Given the description of an element on the screen output the (x, y) to click on. 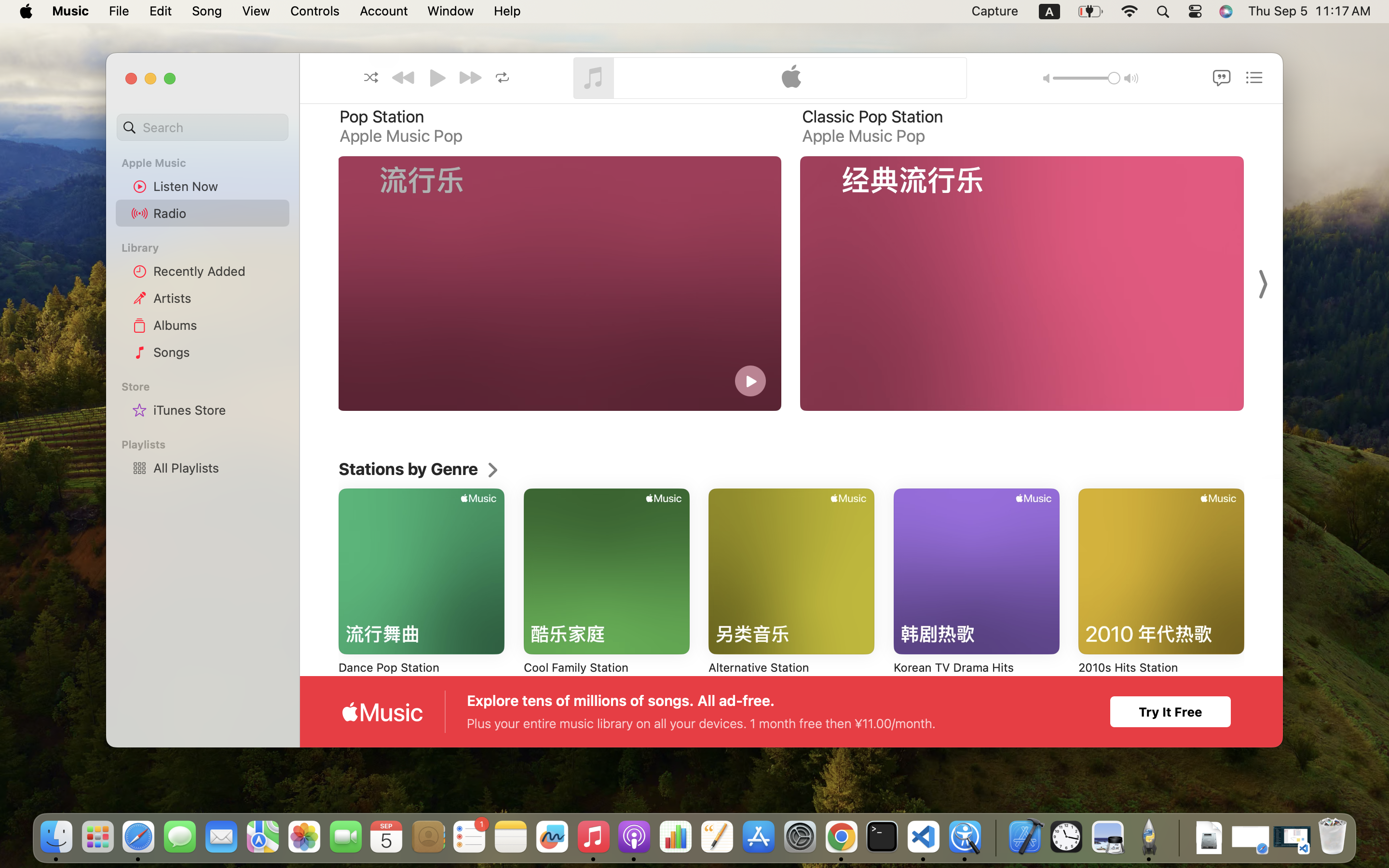
Playlists Element type: AXStaticText (208, 444)
Store Element type: AXStaticText (208, 386)
Classic Pop Station Element type: AXStaticText (872, 116)
Albums Element type: AXStaticText (217, 324)
1.0 Element type: AXSlider (1085, 77)
